Given the description of an element on the screen output the (x, y) to click on. 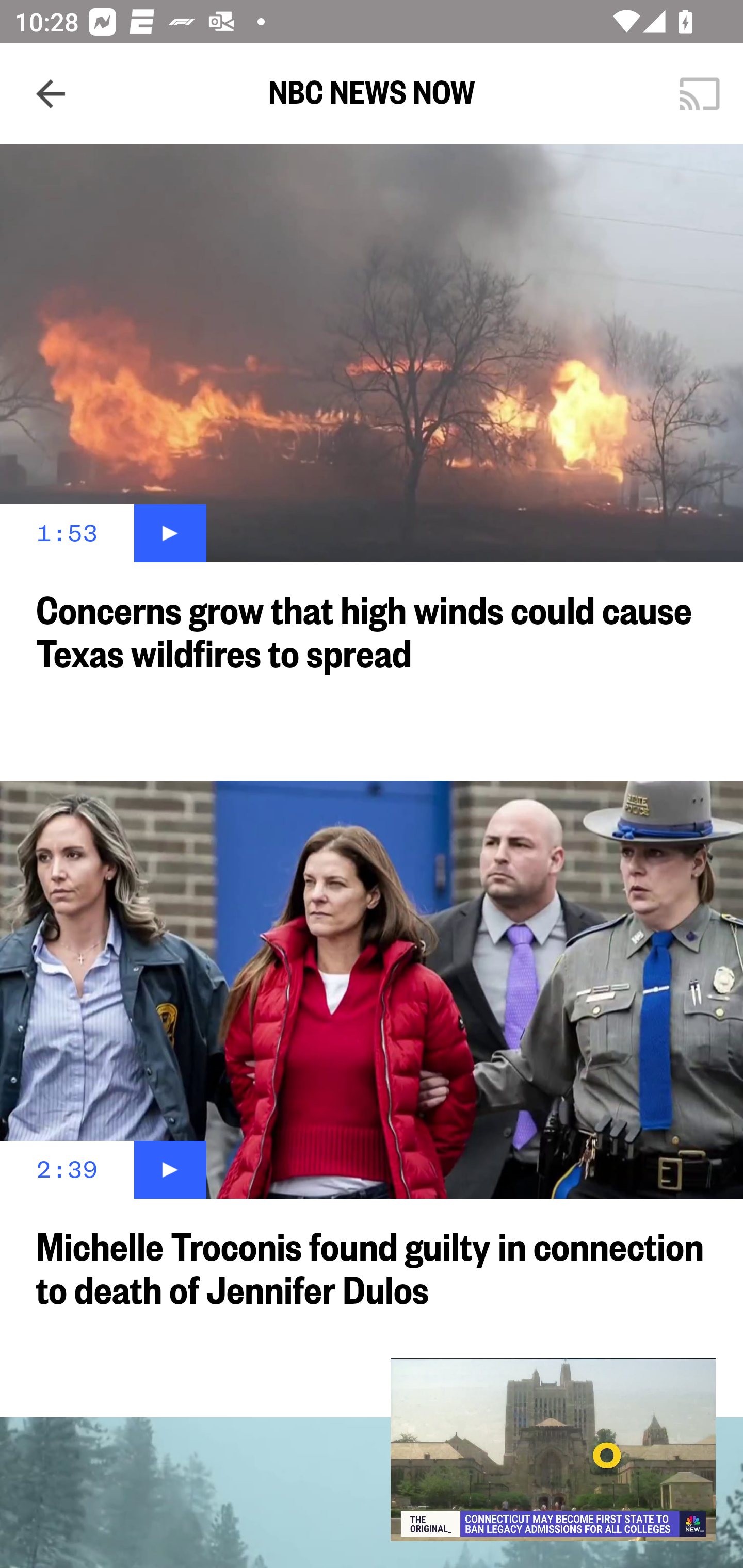
Navigate up (50, 93)
Cast. Disconnected (699, 93)
